Given the description of an element on the screen output the (x, y) to click on. 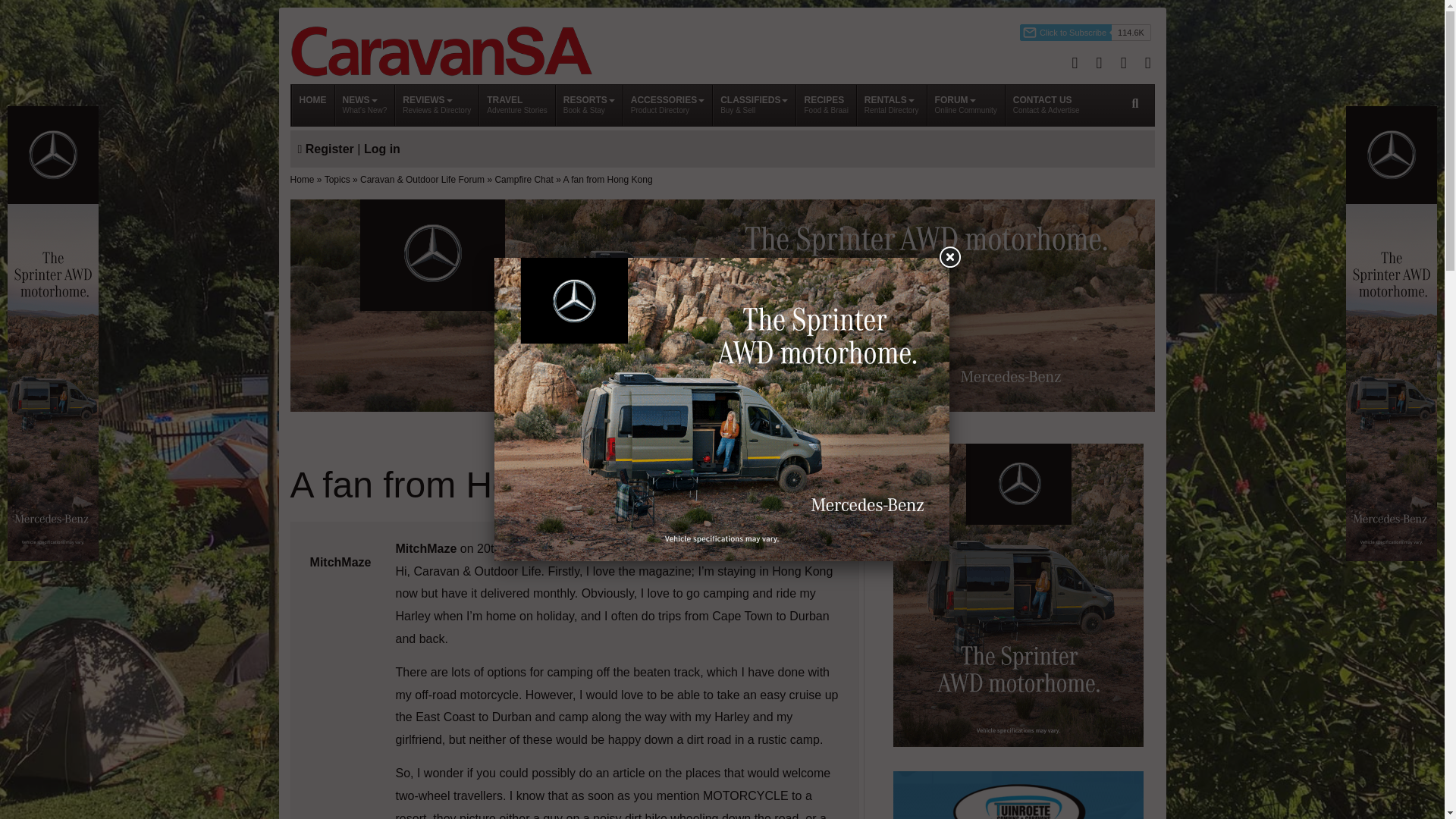
Close (949, 257)
Caravan and Outdoor Online News (312, 105)
